Given the description of an element on the screen output the (x, y) to click on. 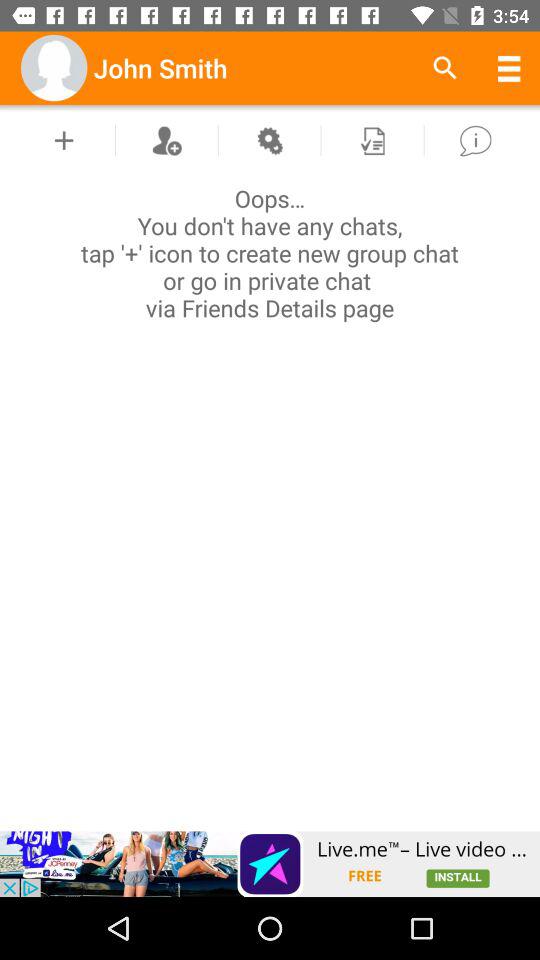
go to contacts (166, 140)
